Given the description of an element on the screen output the (x, y) to click on. 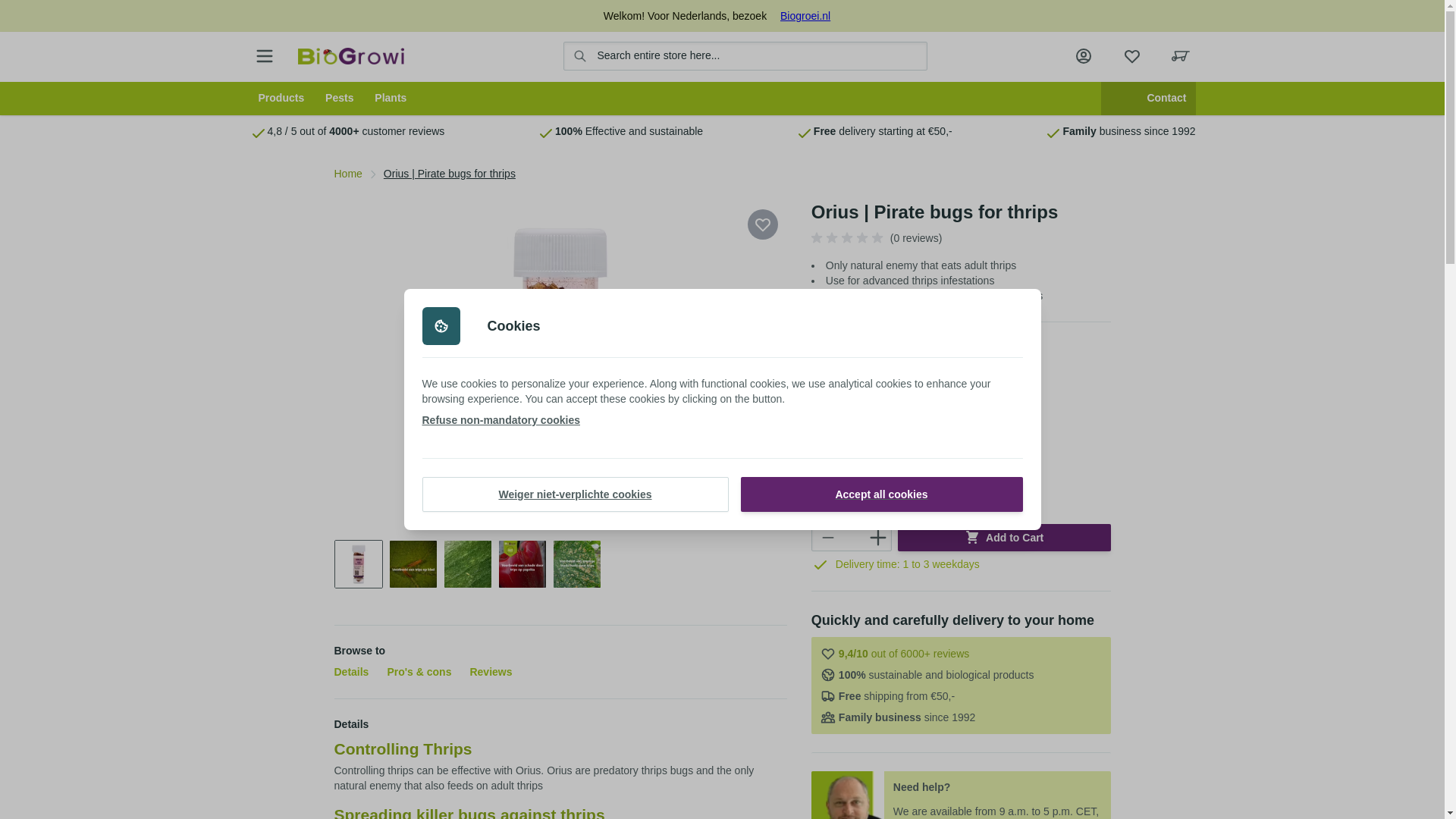
A tube of 100 Orius predatory insects (357, 564)
Go to Home Page (347, 174)
Biogrowi.com (350, 55)
Cart (1179, 55)
Be the first to review this product (848, 237)
Add to Wish List (762, 224)
Add to Cart (1004, 537)
